Given the description of an element on the screen output the (x, y) to click on. 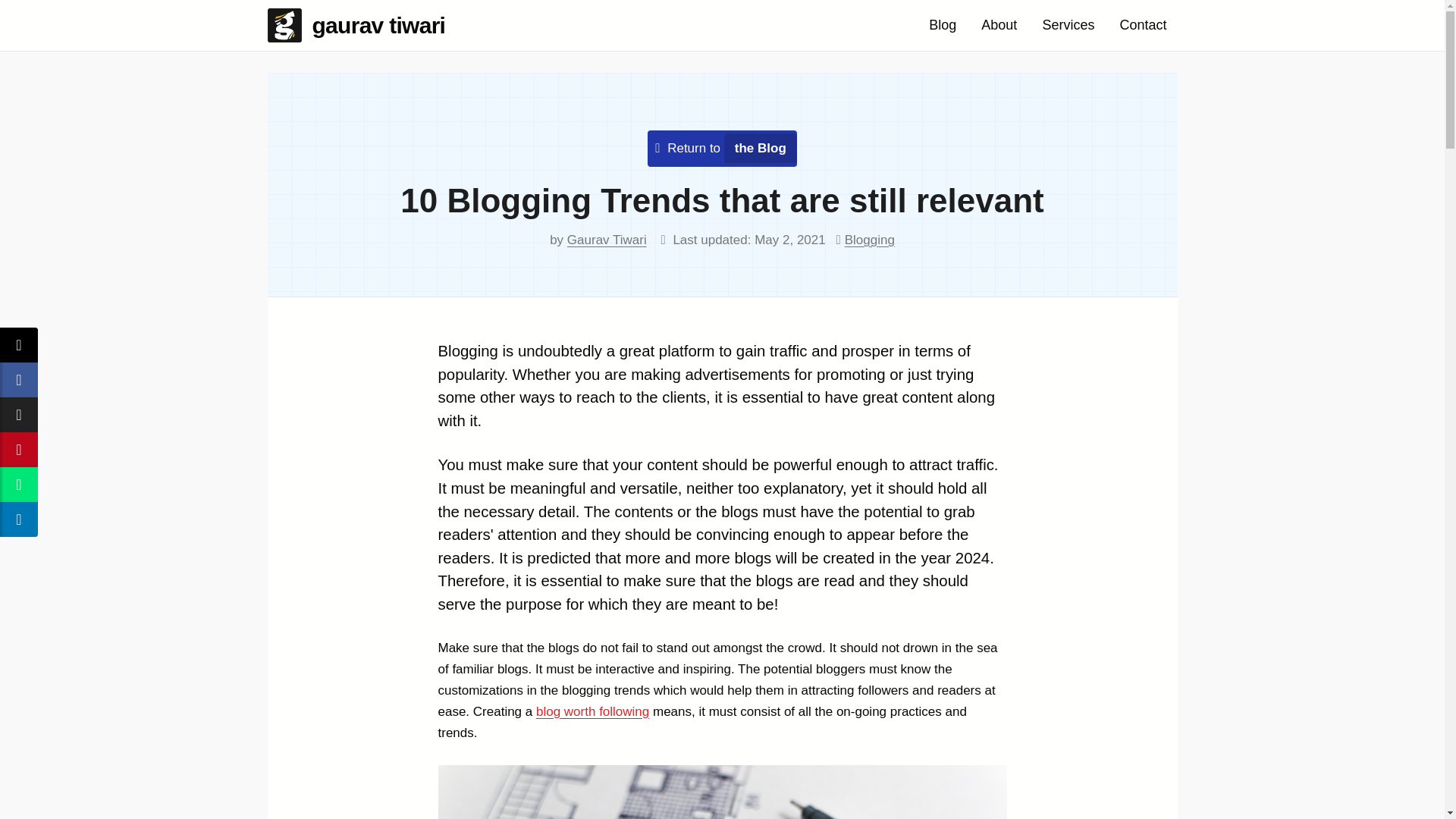
Services (1067, 25)
Return to the Blog (725, 147)
Blogging (869, 239)
Blog (942, 25)
Contact (1142, 25)
About (999, 25)
blog worth following (592, 711)
gaurav tiwari (360, 25)
